Given the description of an element on the screen output the (x, y) to click on. 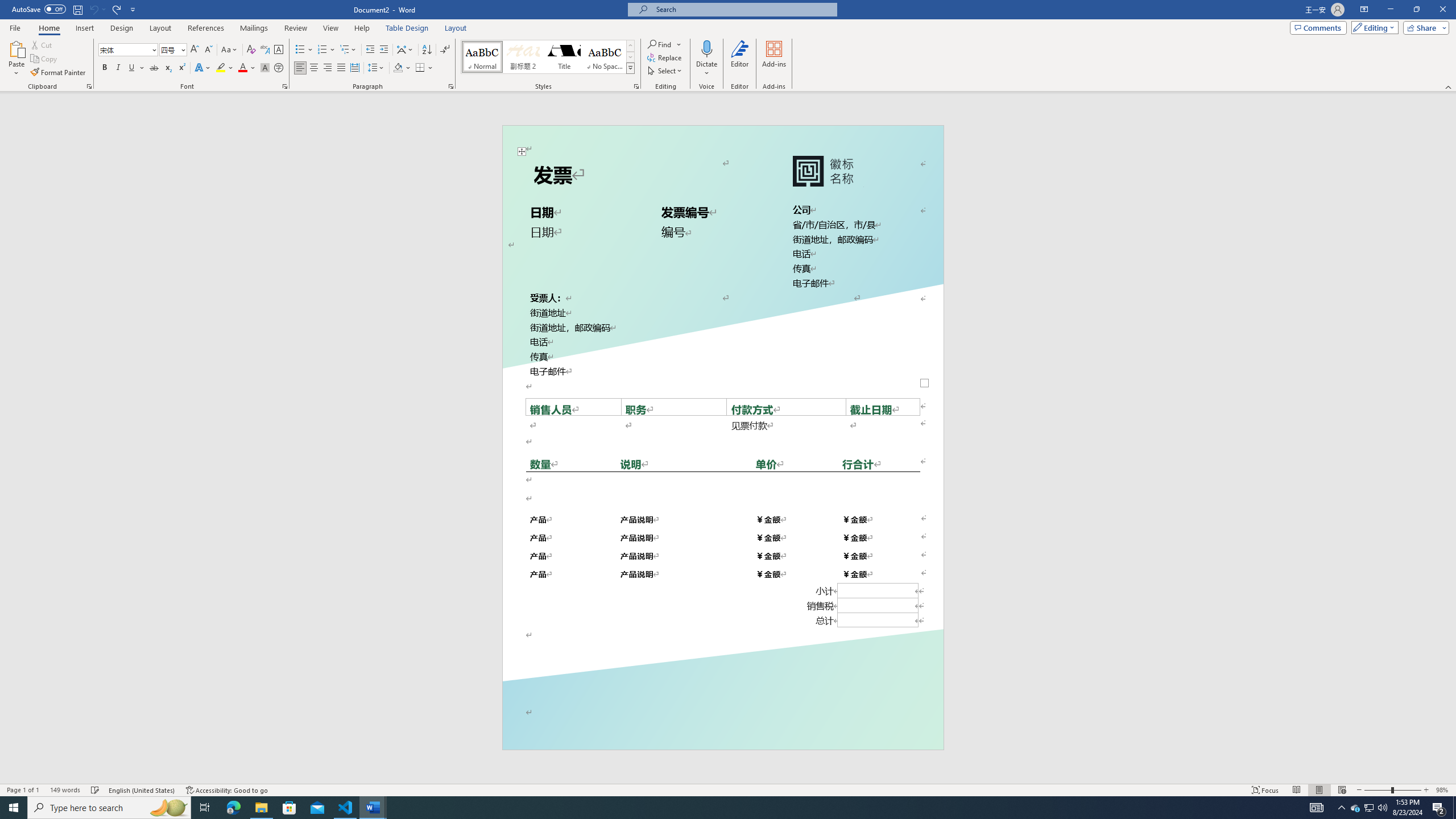
Page Number Page 1 of 1 (22, 790)
First Page Footer -Section 1- (722, 723)
Font Color Red (241, 67)
